Given the description of an element on the screen output the (x, y) to click on. 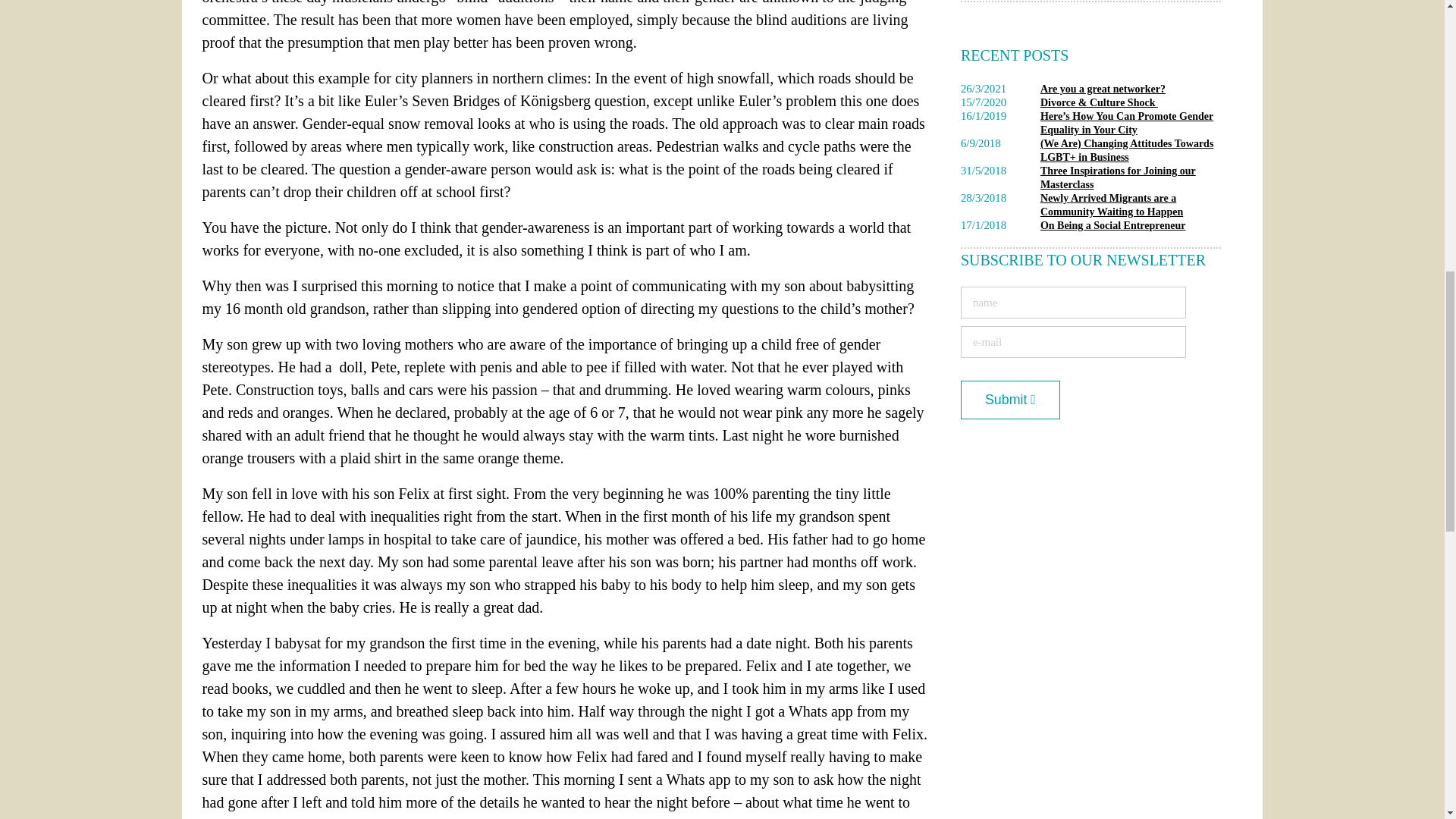
Are you a great networker? (1103, 89)
Three Inspirations for Joining our Masterclass (1118, 177)
Newly Arrived Migrants are a Community Waiting to Happen (1111, 204)
On Being a Social Entrepreneur (1113, 225)
Submit (1009, 399)
